Given the description of an element on the screen output the (x, y) to click on. 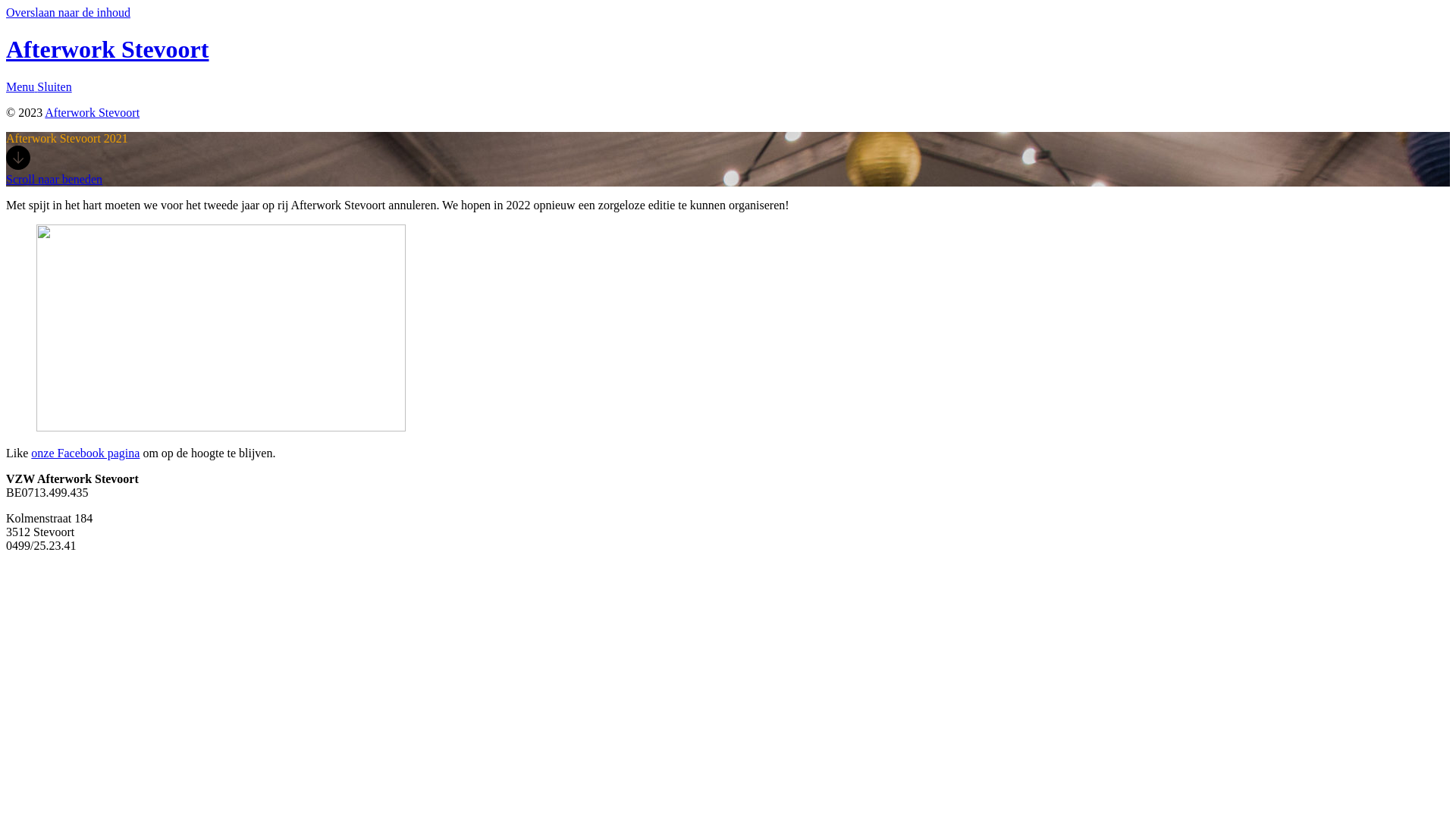
Afterwork Stevoort Element type: text (107, 48)
onze Facebook pagina Element type: text (85, 452)
Afterwork Stevoort Element type: text (91, 112)
Overslaan naar de inhoud Element type: text (68, 12)
Scroll naar beneden Element type: text (727, 165)
Menu Sluiten Element type: text (727, 87)
